Given the description of an element on the screen output the (x, y) to click on. 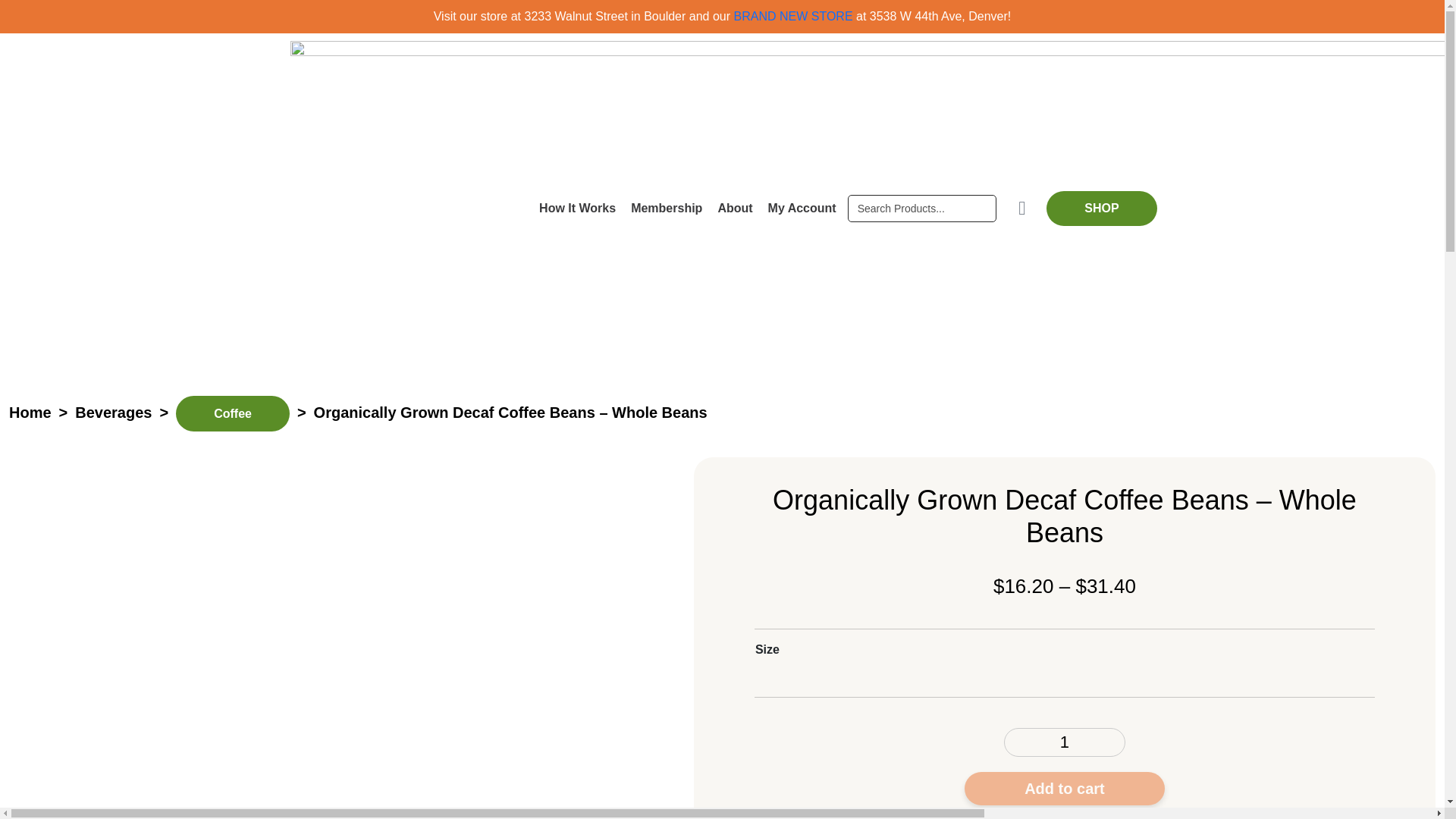
How It Works (577, 208)
About (735, 208)
Coffee (232, 413)
1 (1064, 742)
Membership (666, 208)
Home (29, 412)
BRAND NEW STORE (793, 15)
Beverages (113, 412)
SHOP (1101, 208)
Add to cart (1063, 788)
